Given the description of an element on the screen output the (x, y) to click on. 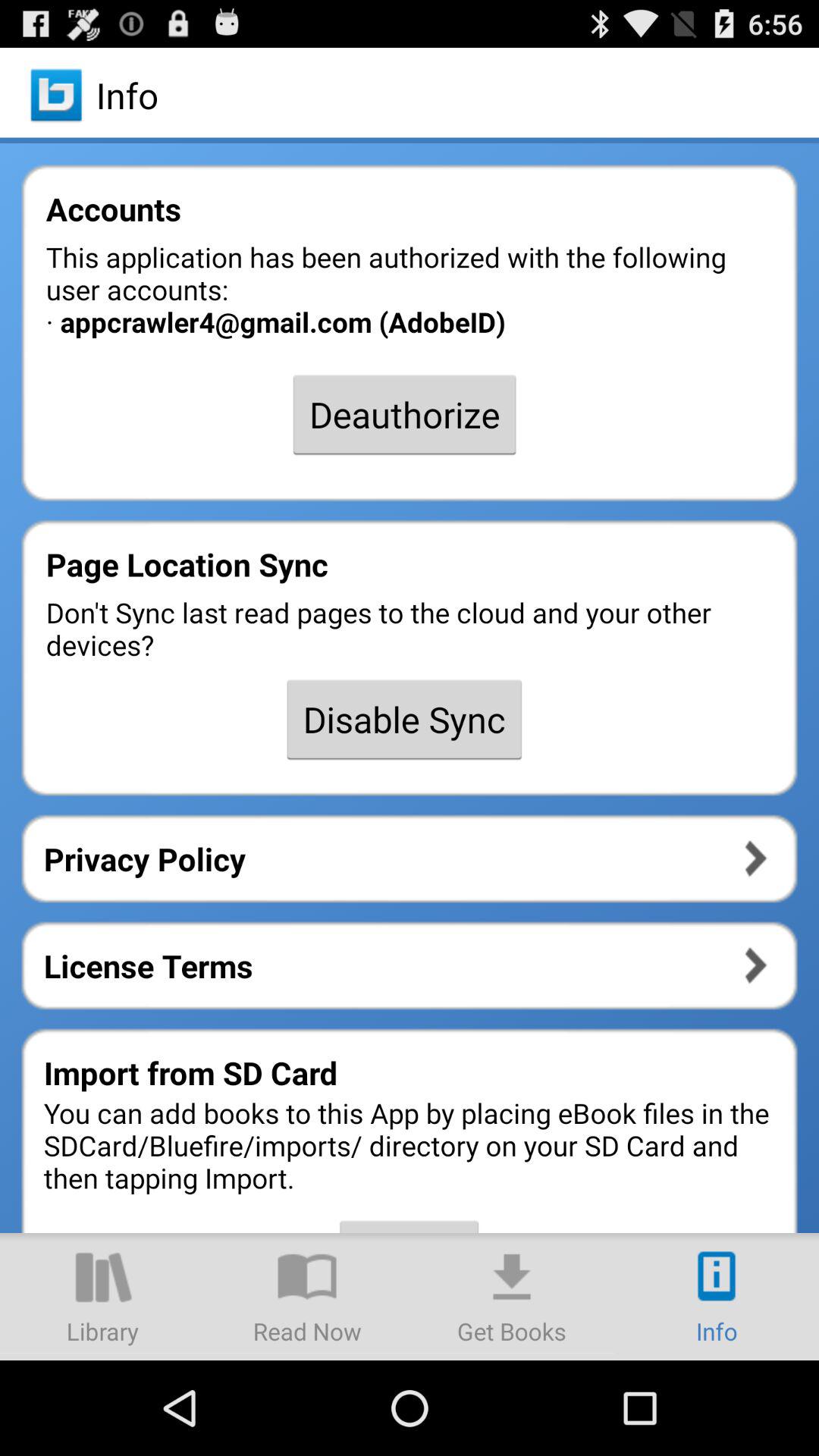
click the disable sync icon (404, 719)
